Given the description of an element on the screen output the (x, y) to click on. 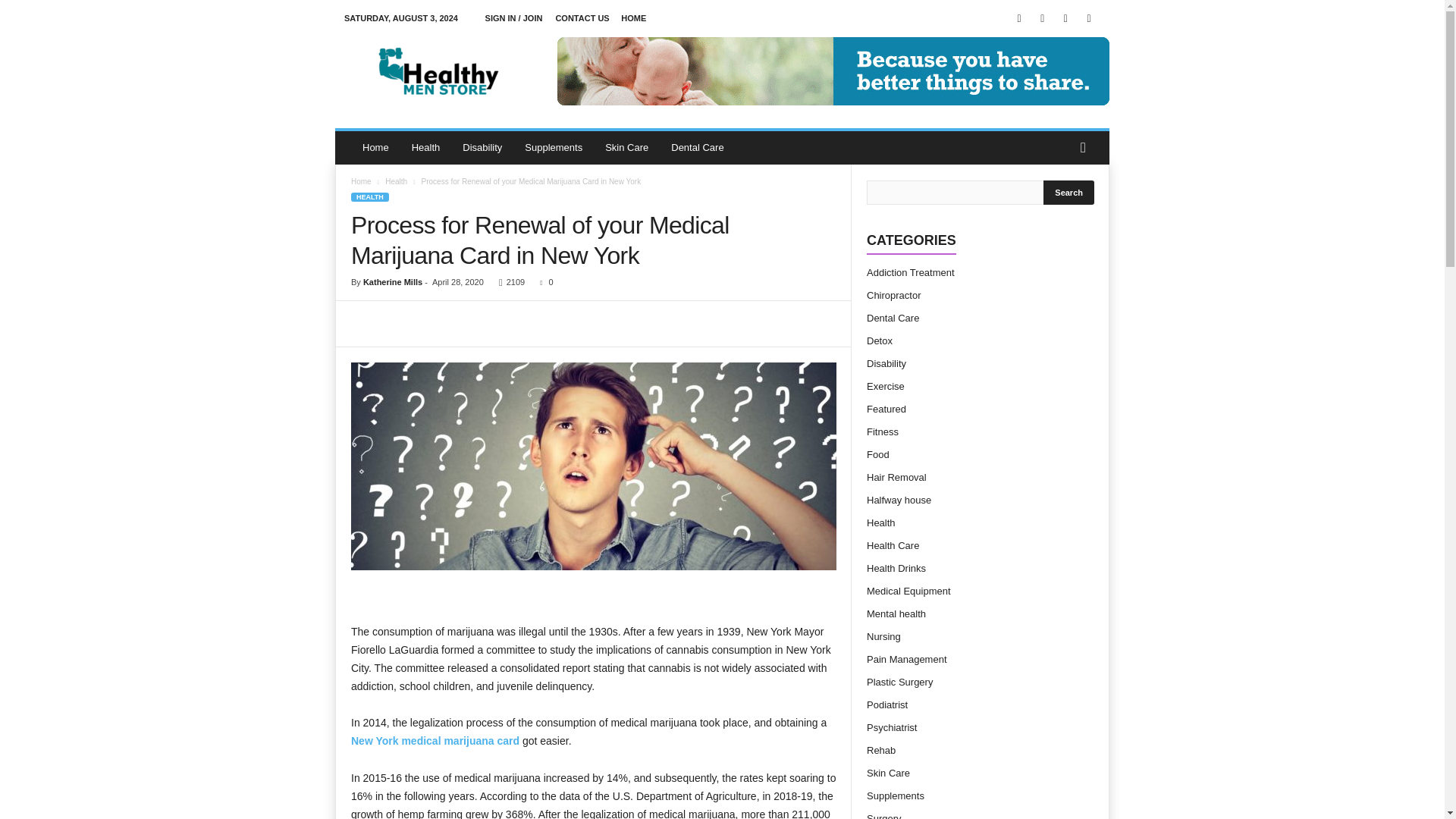
Health (425, 147)
HOME (633, 17)
Home (360, 181)
Supplements (553, 147)
Tom Davis Leadership Podcast - Cover - 1400x1400 px (592, 466)
Disability (482, 147)
Skin Care (626, 147)
View all posts in Health (396, 181)
Dental Care (697, 147)
Search (1068, 192)
CONTACT US (581, 17)
Home (375, 147)
HealthyMenStore (437, 70)
